Given the description of an element on the screen output the (x, y) to click on. 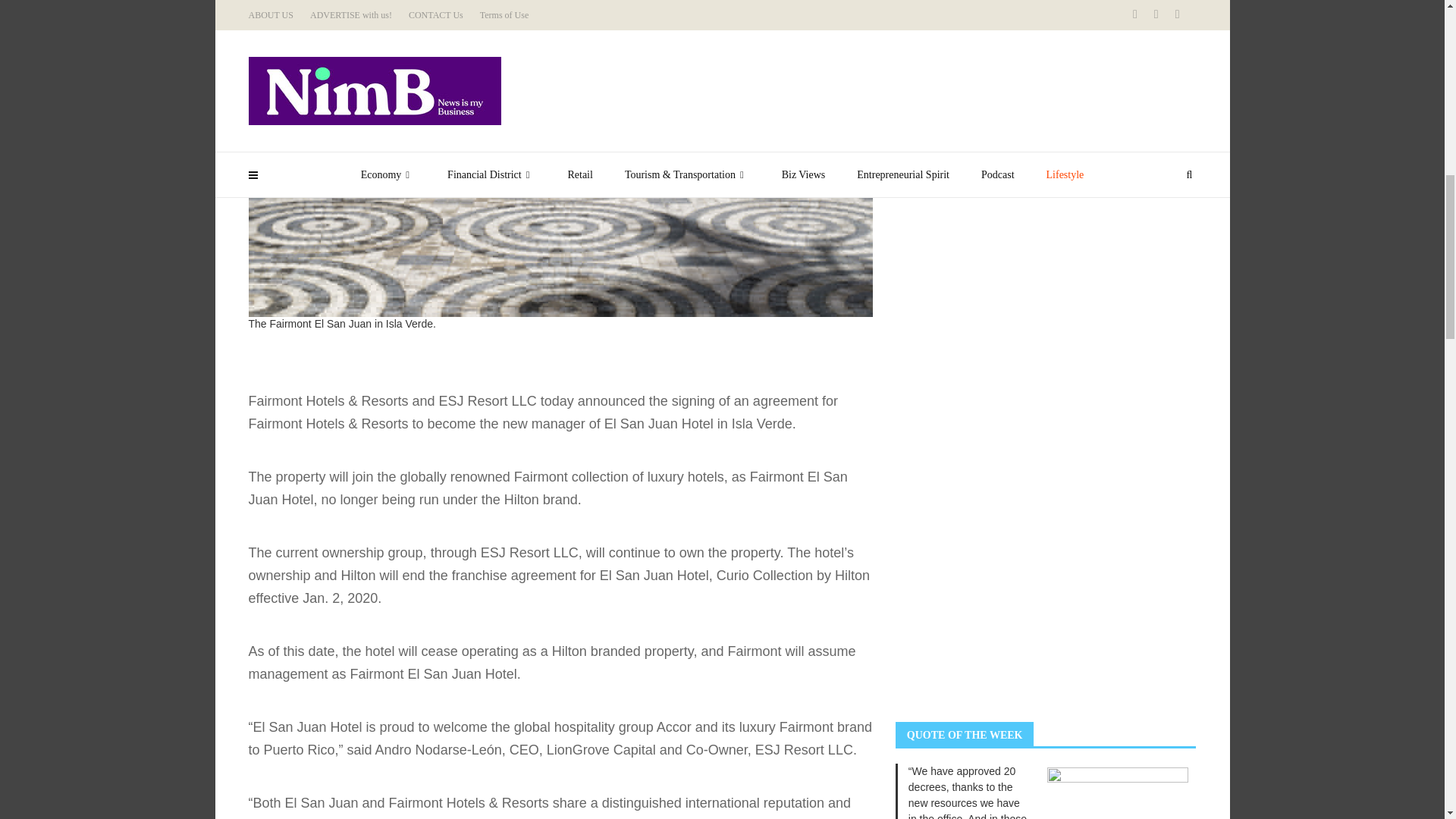
3rd party ad content (1008, 604)
3rd party ad content (1008, 391)
